Given the description of an element on the screen output the (x, y) to click on. 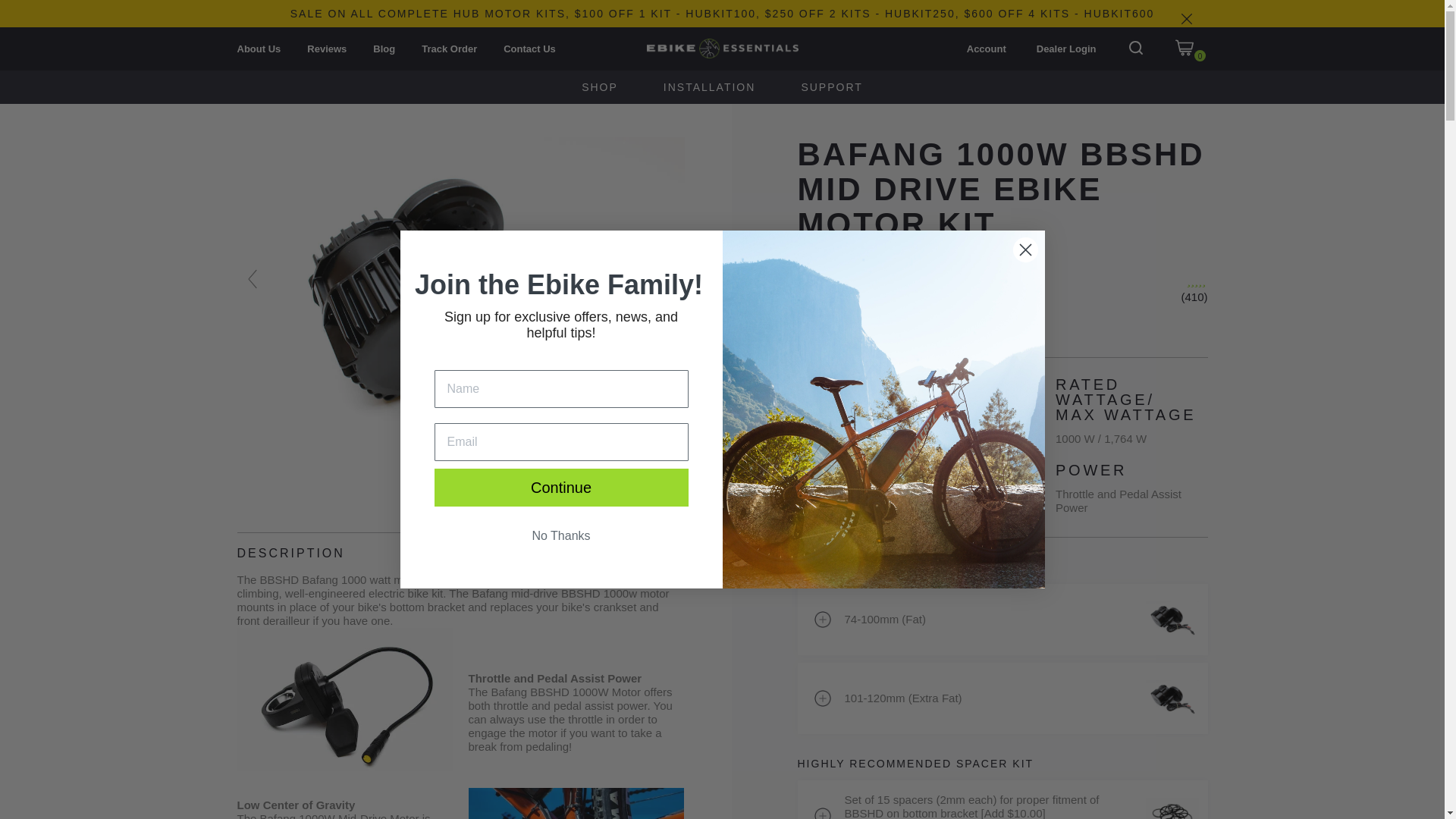
Contact Us (529, 48)
Close dialog 2 (1024, 249)
0 (1191, 48)
cart (1191, 48)
Dealer Login (1066, 48)
About Us (258, 48)
Blog (383, 48)
Reviews (326, 48)
Reviews (326, 48)
Log In (986, 48)
Contact Us (529, 48)
SHOP (598, 89)
Account (986, 48)
Blog (383, 48)
About Us (258, 48)
